Given the description of an element on the screen output the (x, y) to click on. 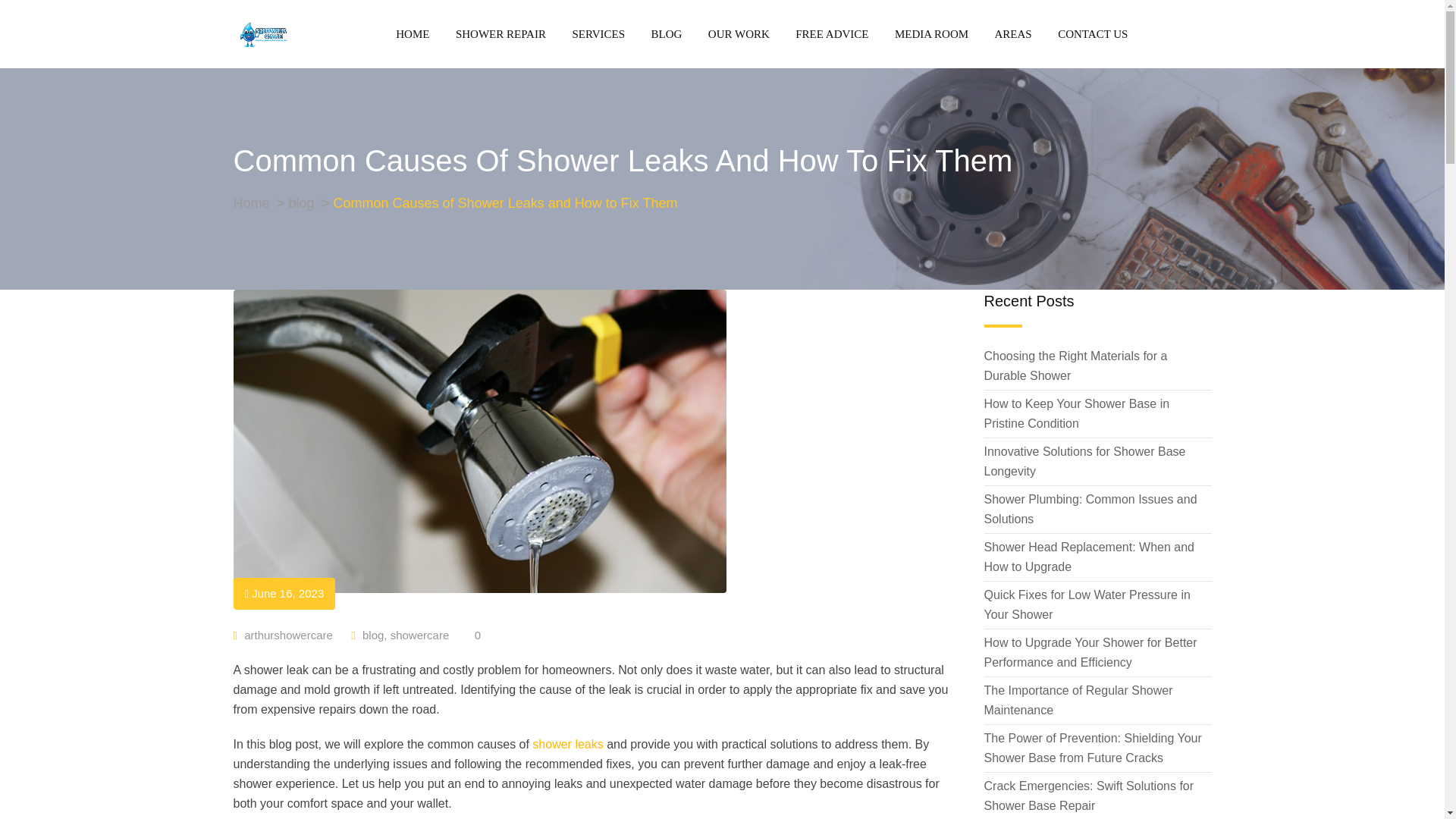
SHOWER REPAIR (500, 33)
OUR WORK (738, 33)
Posts by arthurshowercare (288, 634)
SERVICES (598, 33)
MEDIA ROOM (931, 33)
FREE ADVICE (831, 33)
